Given the description of an element on the screen output the (x, y) to click on. 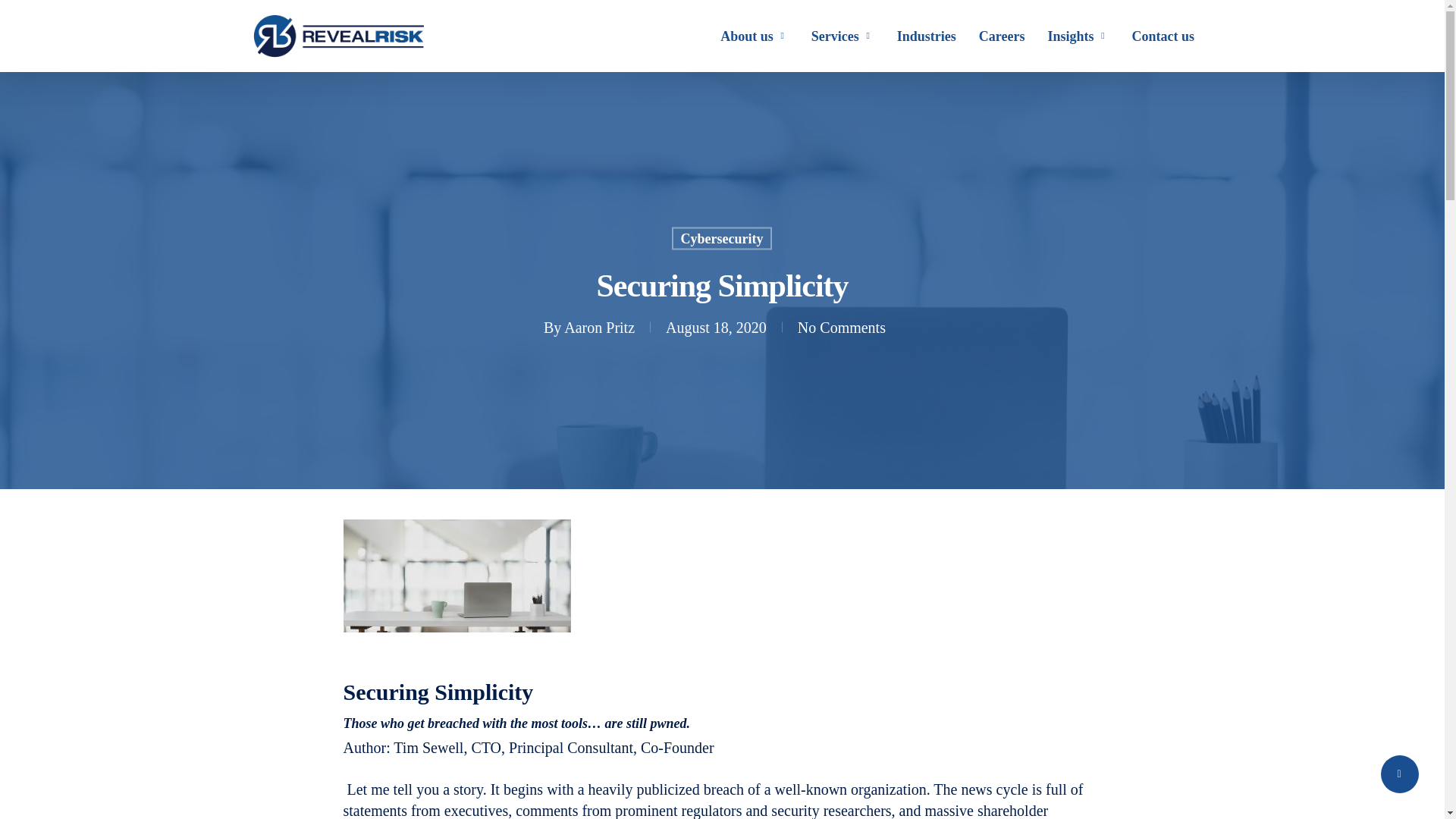
Cybersecurity (722, 238)
Aaron Pritz (599, 326)
No Comments (841, 326)
Careers (1001, 36)
Posts by Aaron Pritz (599, 326)
Contact us (1162, 36)
About us (754, 36)
Services (842, 36)
Insights (1077, 36)
Industries (926, 36)
